Given the description of an element on the screen output the (x, y) to click on. 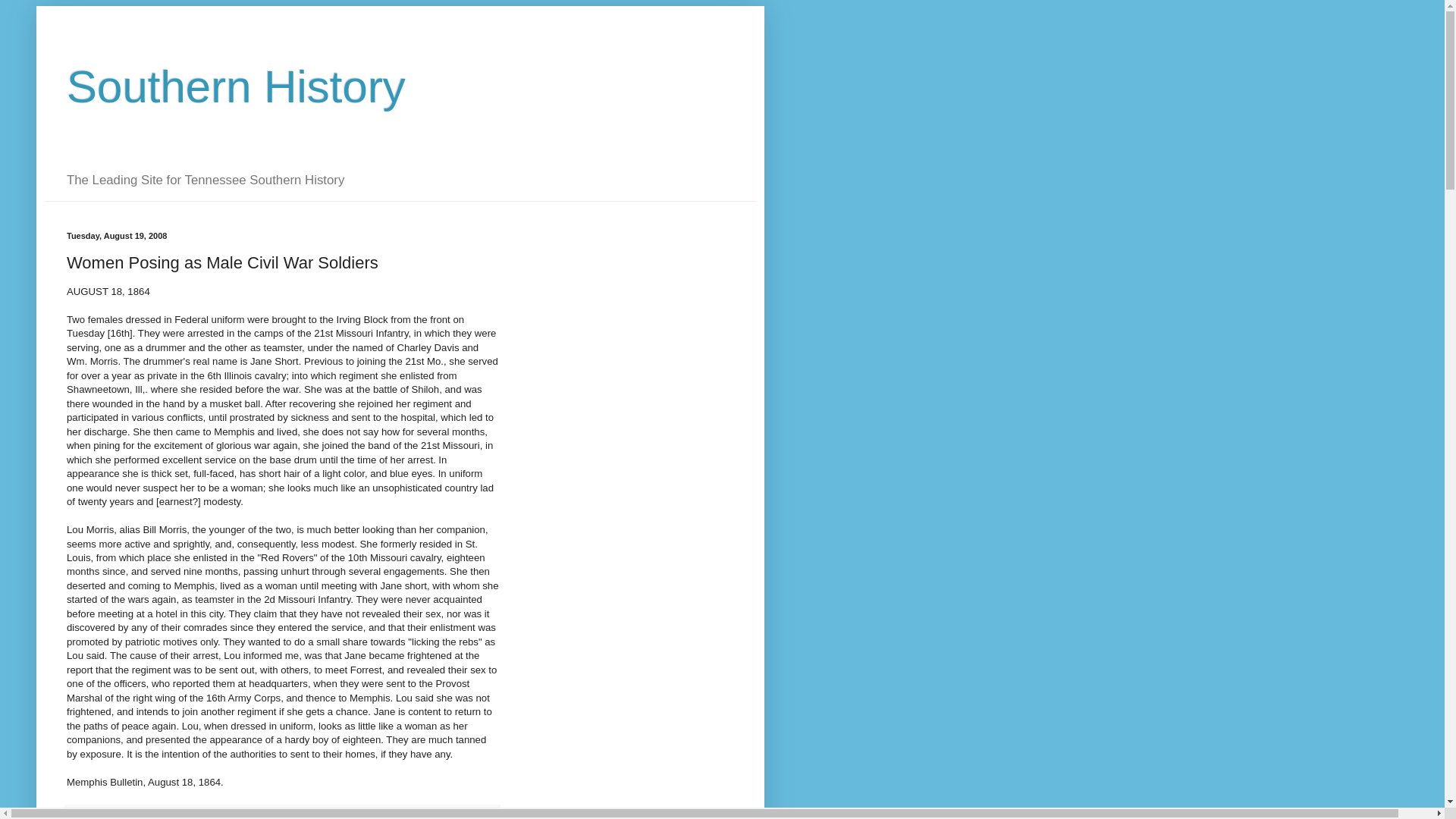
author profile (133, 816)
Email Post (204, 816)
permanent link (179, 816)
Southern History (236, 86)
Edit Post (219, 816)
Boyd Jones (133, 816)
